Given the description of an element on the screen output the (x, y) to click on. 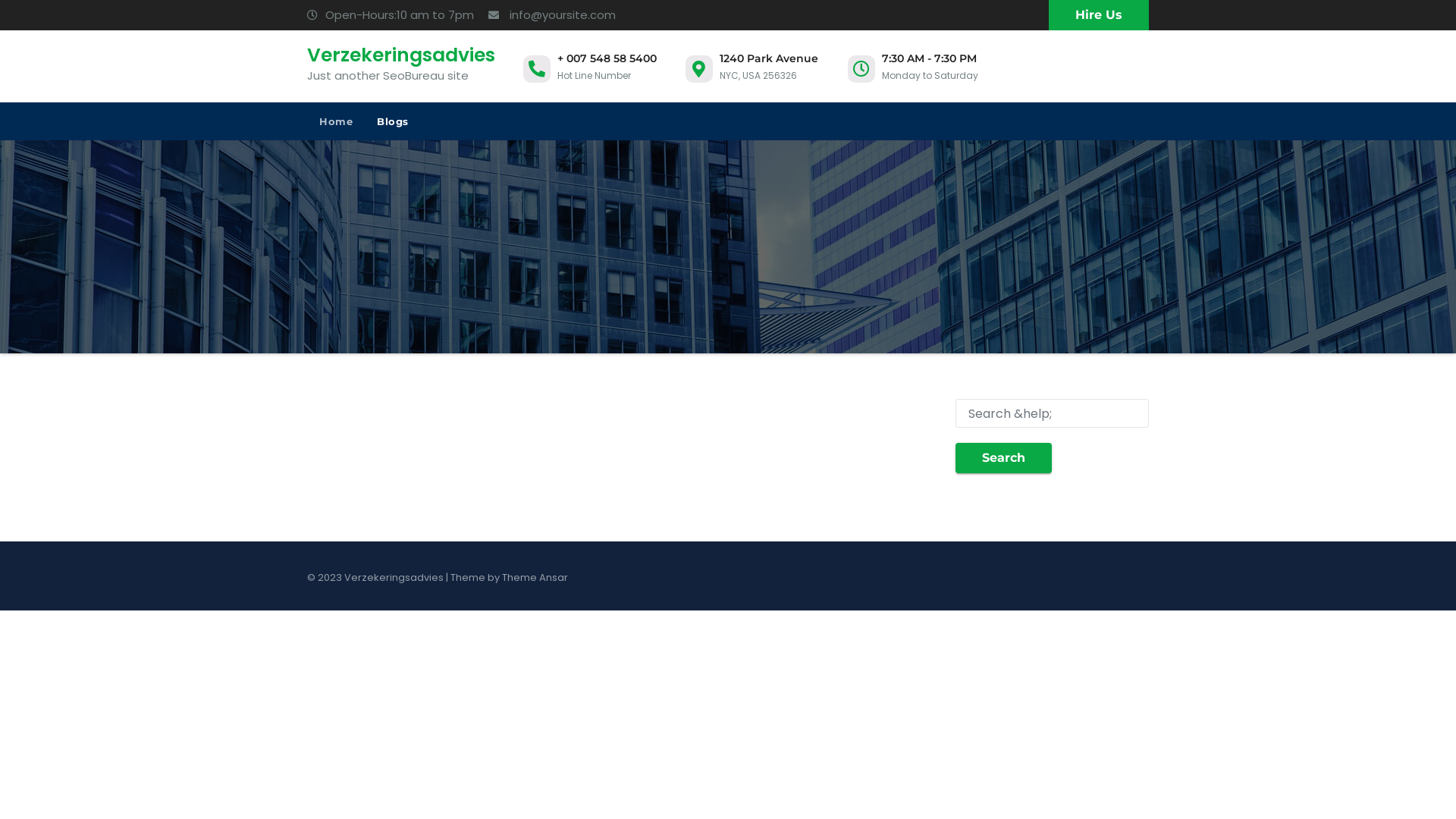
Search Element type: text (1003, 457)
Home Element type: text (335, 121)
Hire Us Element type: text (1098, 15)
Verzekeringsadvies Element type: text (401, 54)
Blogs Element type: text (392, 121)
Theme Ansar Element type: text (534, 577)
